Given the description of an element on the screen output the (x, y) to click on. 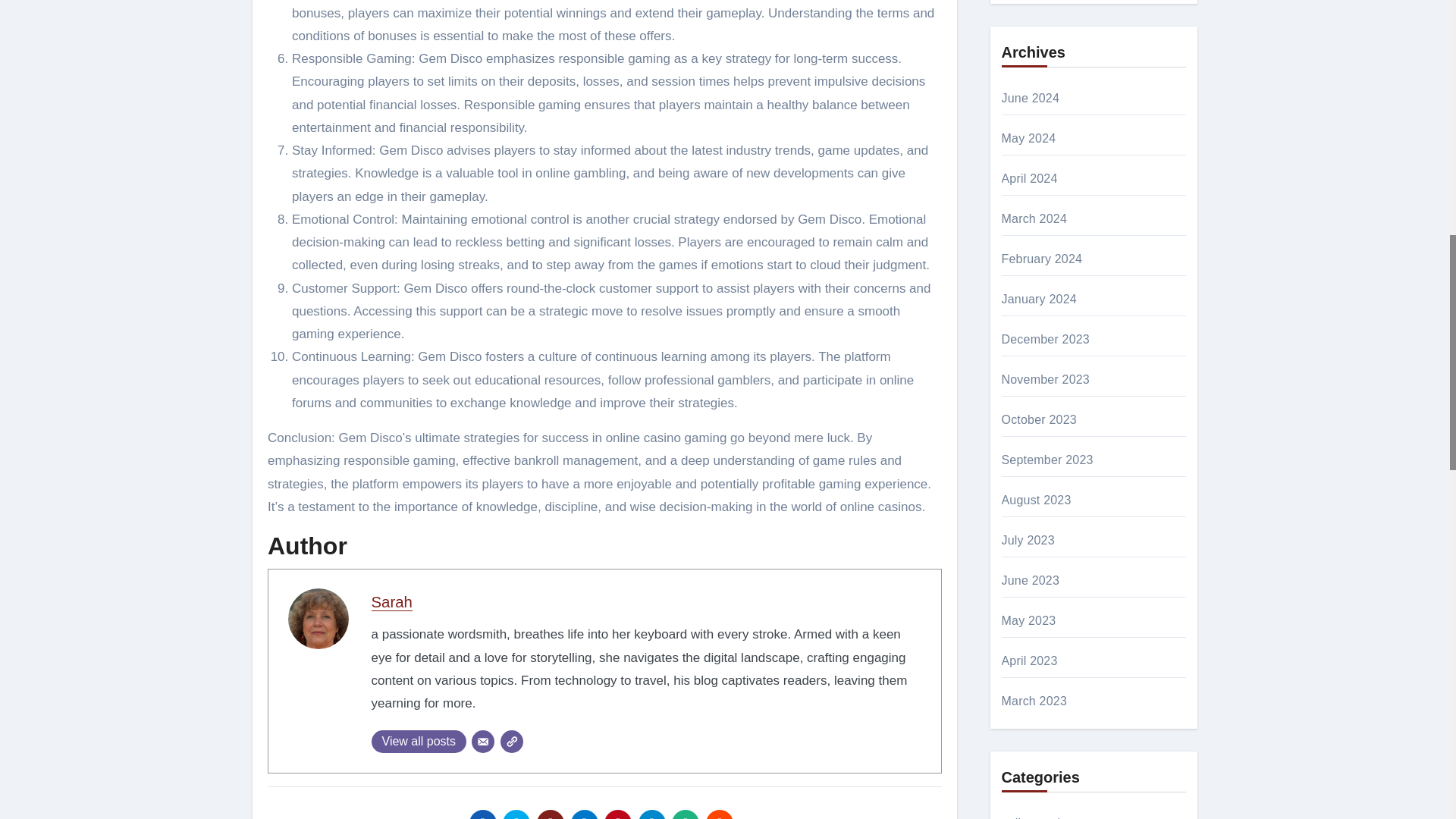
View all posts (419, 741)
Sarah (391, 601)
View all posts (419, 741)
Sarah (391, 601)
